Given the description of an element on the screen output the (x, y) to click on. 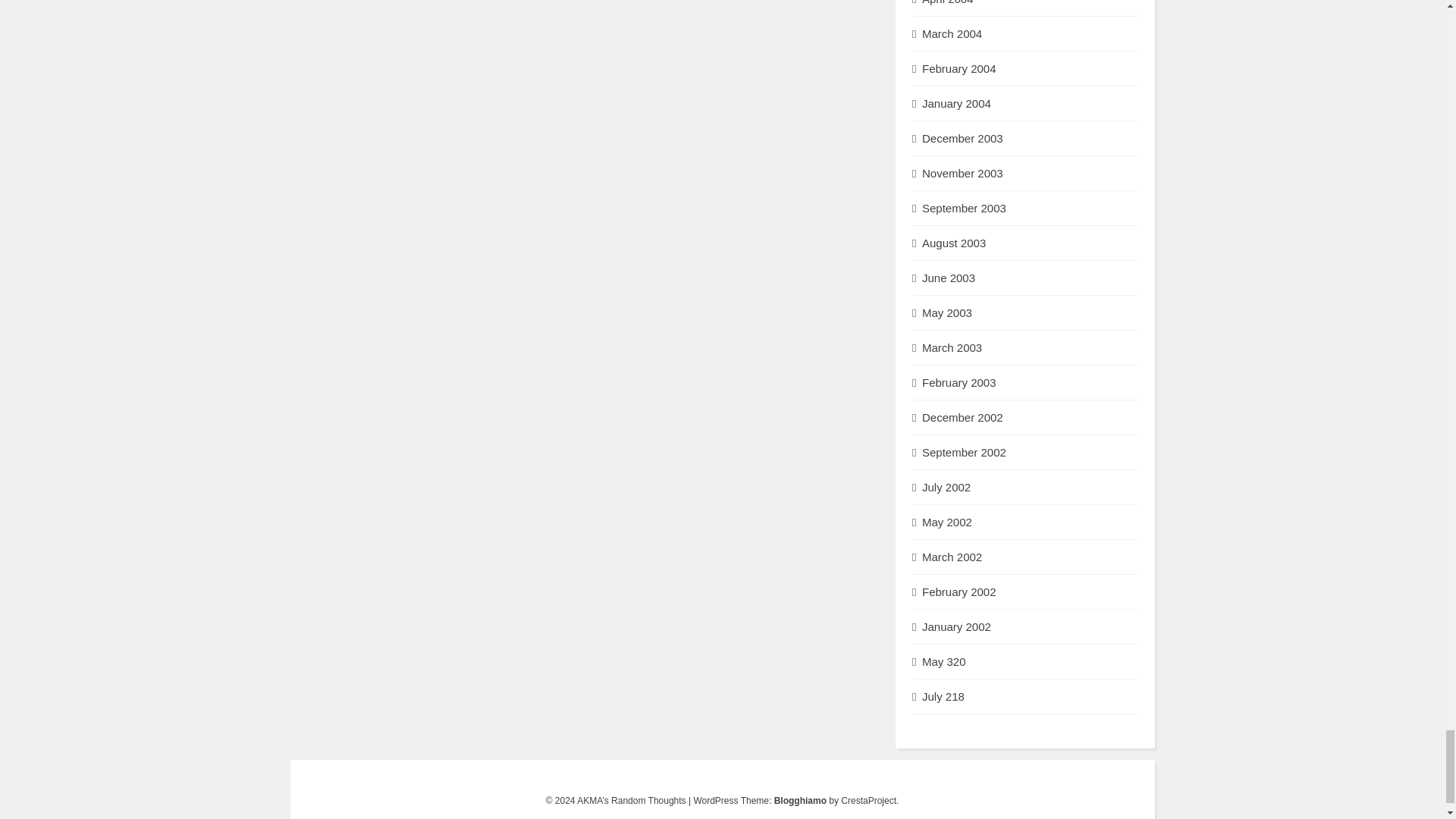
Blogghiamo Theme (800, 800)
